Given the description of an element on the screen output the (x, y) to click on. 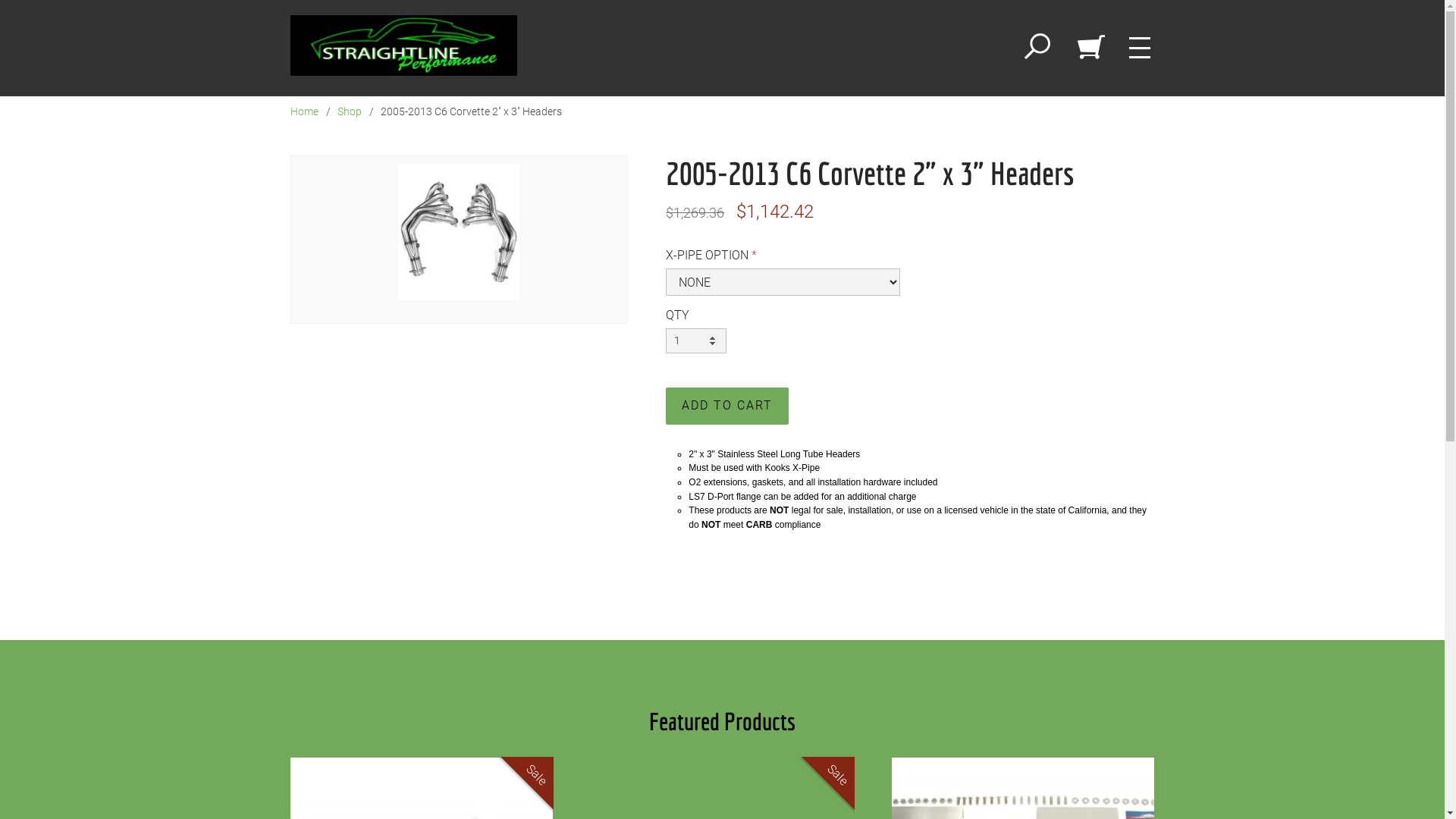
Add to Cart Element type: text (726, 405)
Shop Element type: text (348, 111)
Home Element type: text (303, 111)
